Given the description of an element on the screen output the (x, y) to click on. 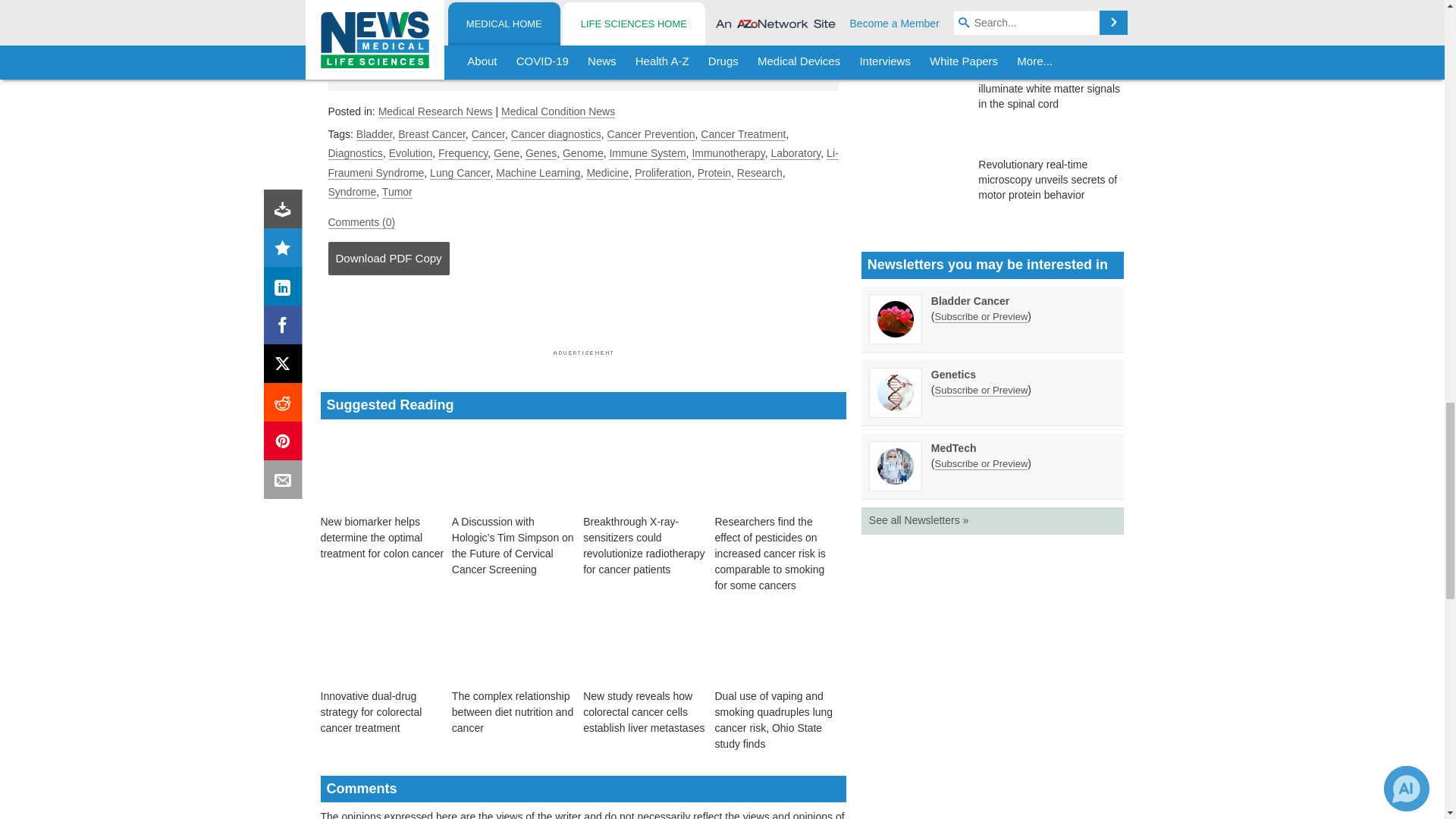
Rate this 5 stars out of 5 (636, 61)
Rate this 4 stars out of 5 (609, 61)
